Given the description of an element on the screen output the (x, y) to click on. 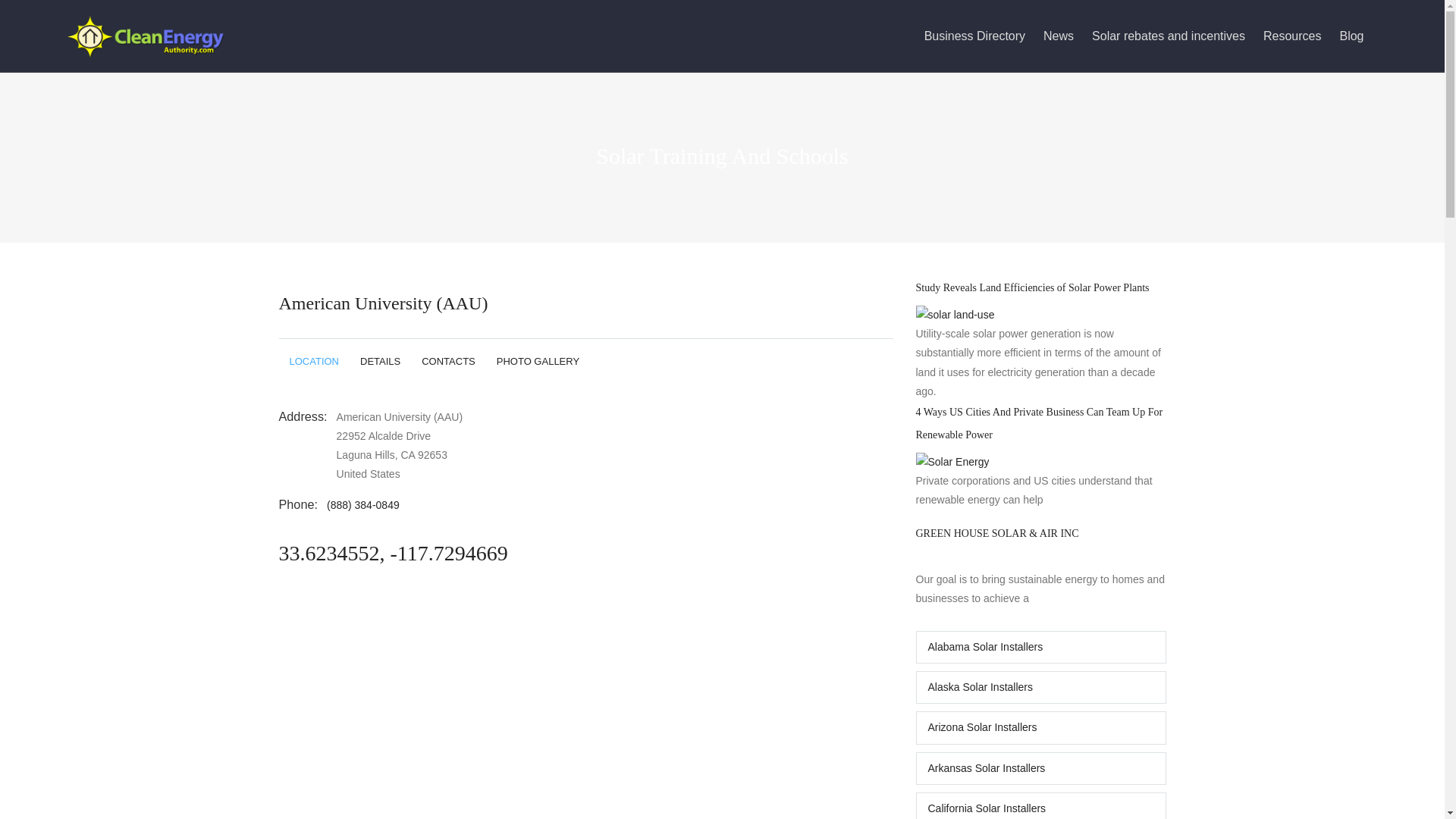
CONTACTS (448, 361)
Arizona Solar Installers (1040, 727)
Alaska Solar Installers (1040, 686)
Blog (1360, 36)
LOCATION (315, 361)
Arizona Solar Installers (1040, 727)
Resources (1301, 36)
Alabama Solar Installers (1040, 646)
Solar Energy News (1067, 36)
Arkansas Solar Installers (1040, 768)
